Given the description of an element on the screen output the (x, y) to click on. 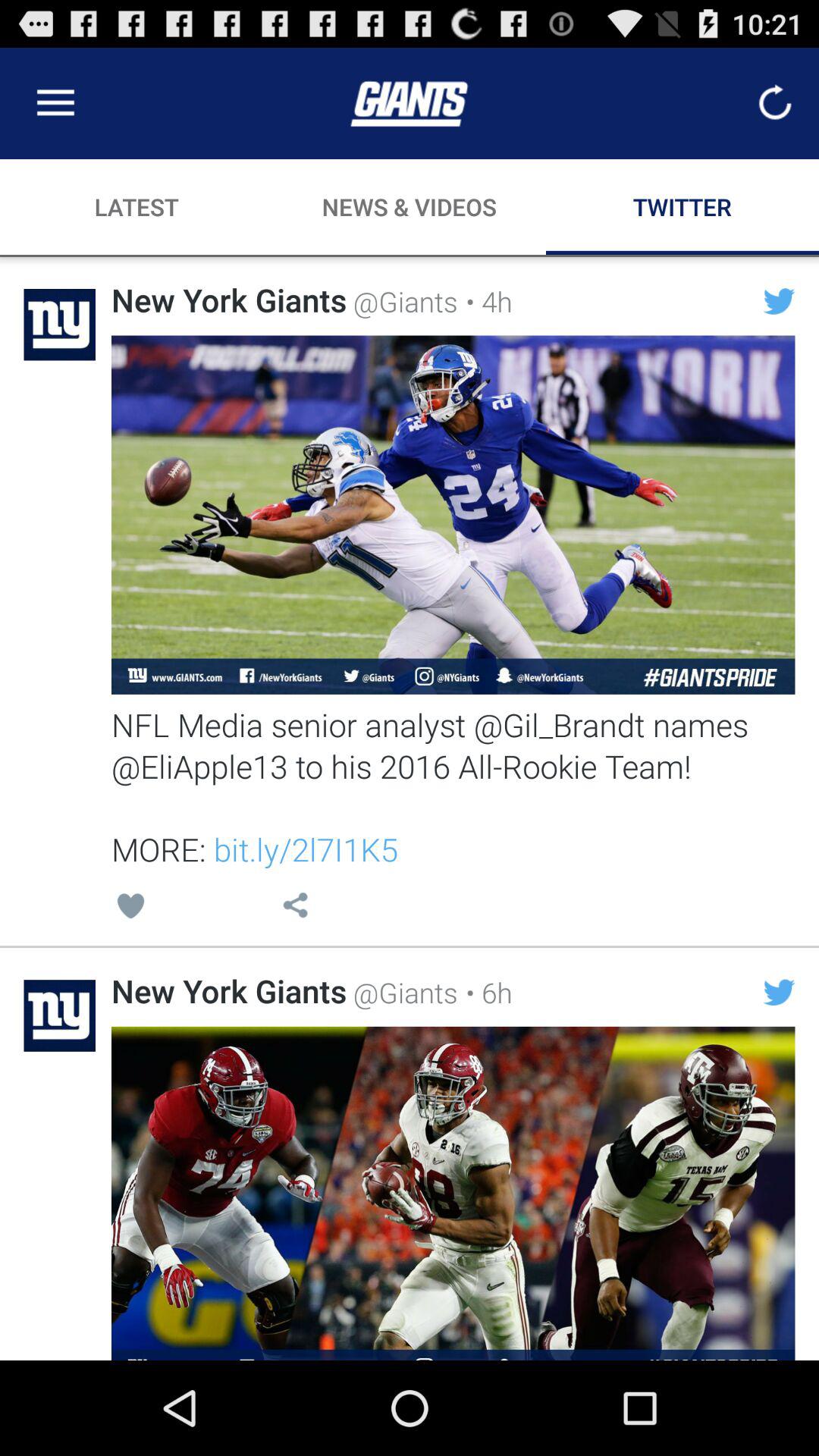
click item next to @giants (484, 992)
